Given the description of an element on the screen output the (x, y) to click on. 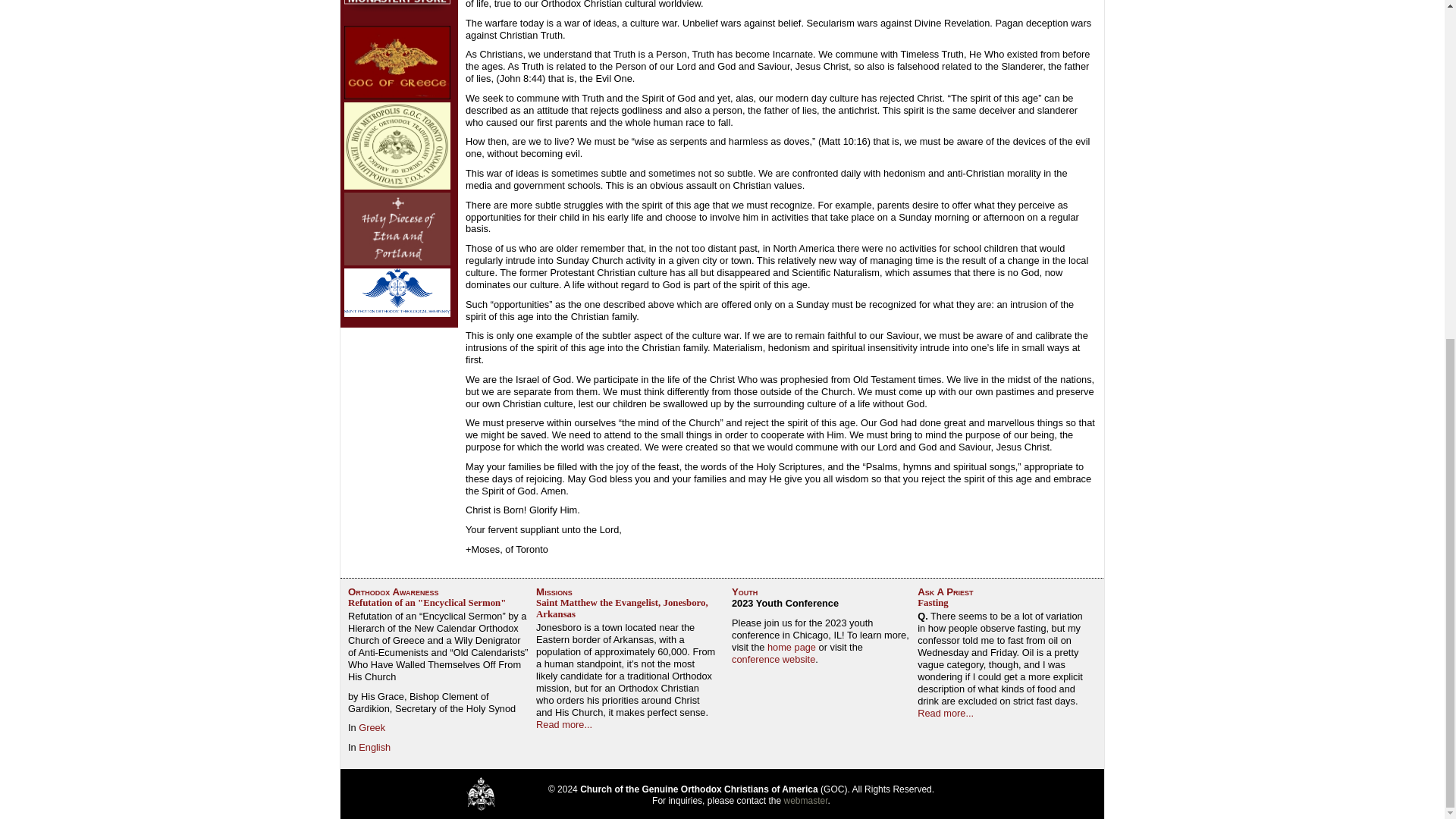
home page (791, 646)
Orthodox Awareness (393, 591)
Greek (371, 727)
Missions (553, 591)
Youth (744, 591)
English (374, 747)
Refutation of an "Encyclical Sermon" (426, 602)
Read more... (563, 724)
Saint Matthew the Evangelist, Jonesboro, Arkansas (621, 608)
